Given the description of an element on the screen output the (x, y) to click on. 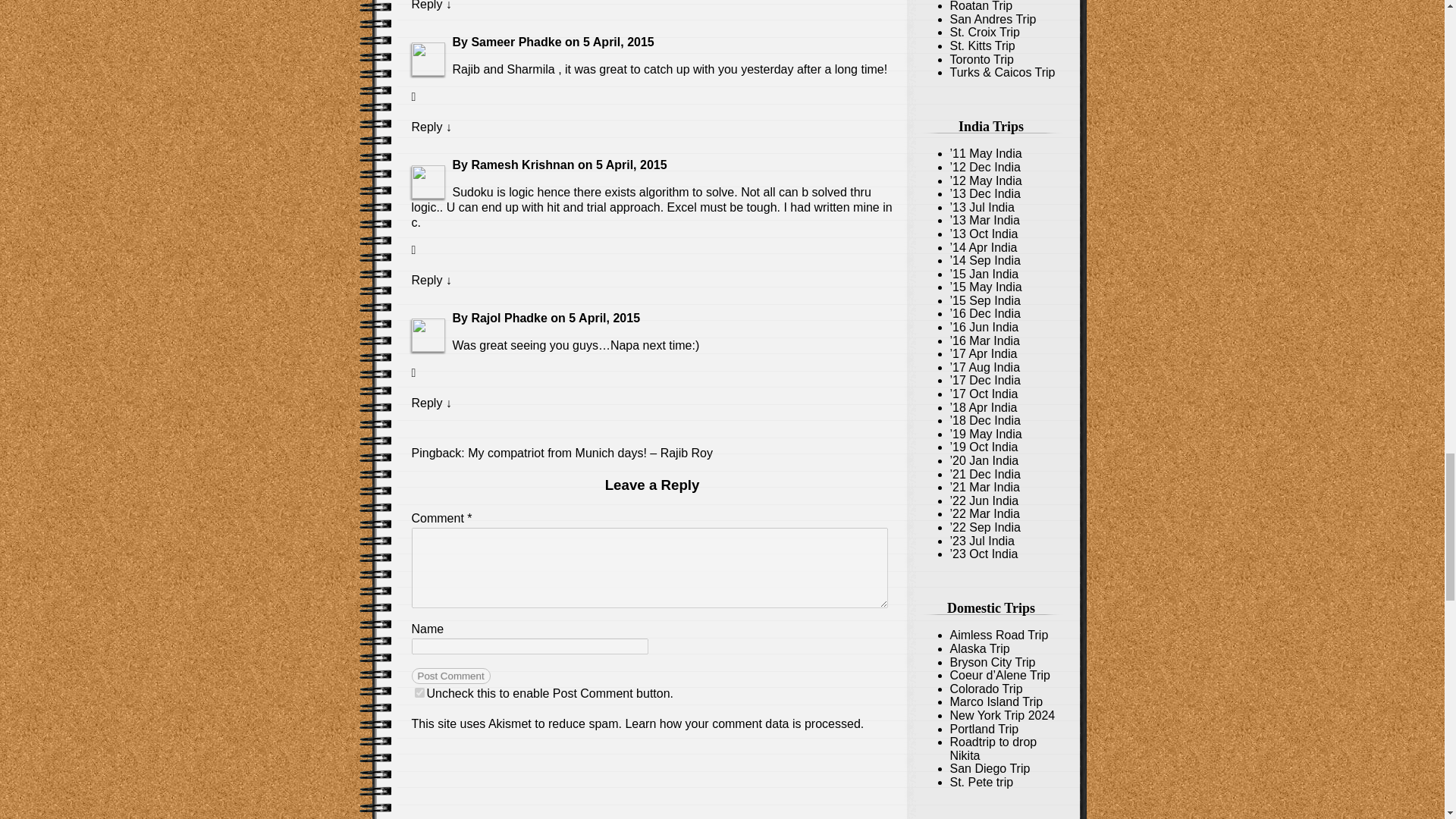
Post Comment (449, 675)
on (418, 692)
